Given the description of an element on the screen output the (x, y) to click on. 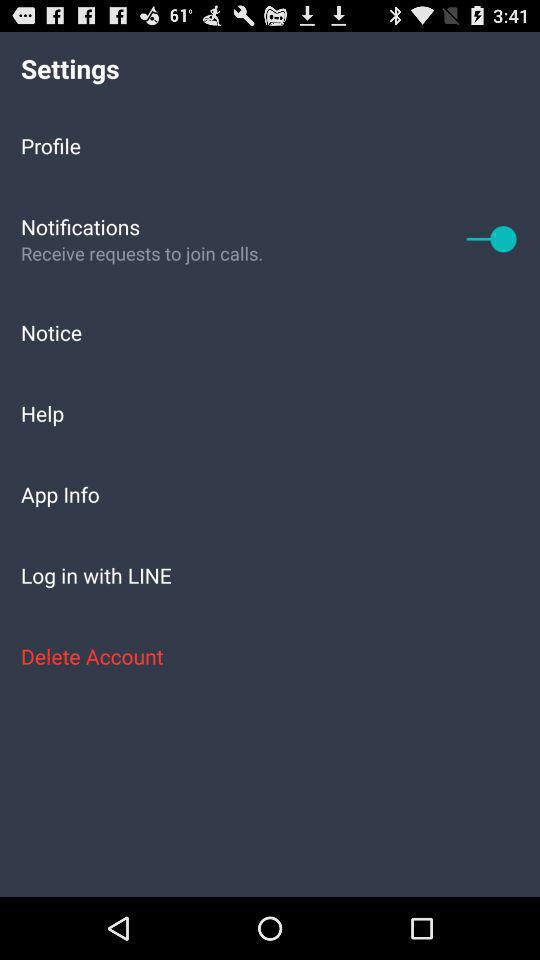
jump to log in with app (270, 574)
